Given the description of an element on the screen output the (x, y) to click on. 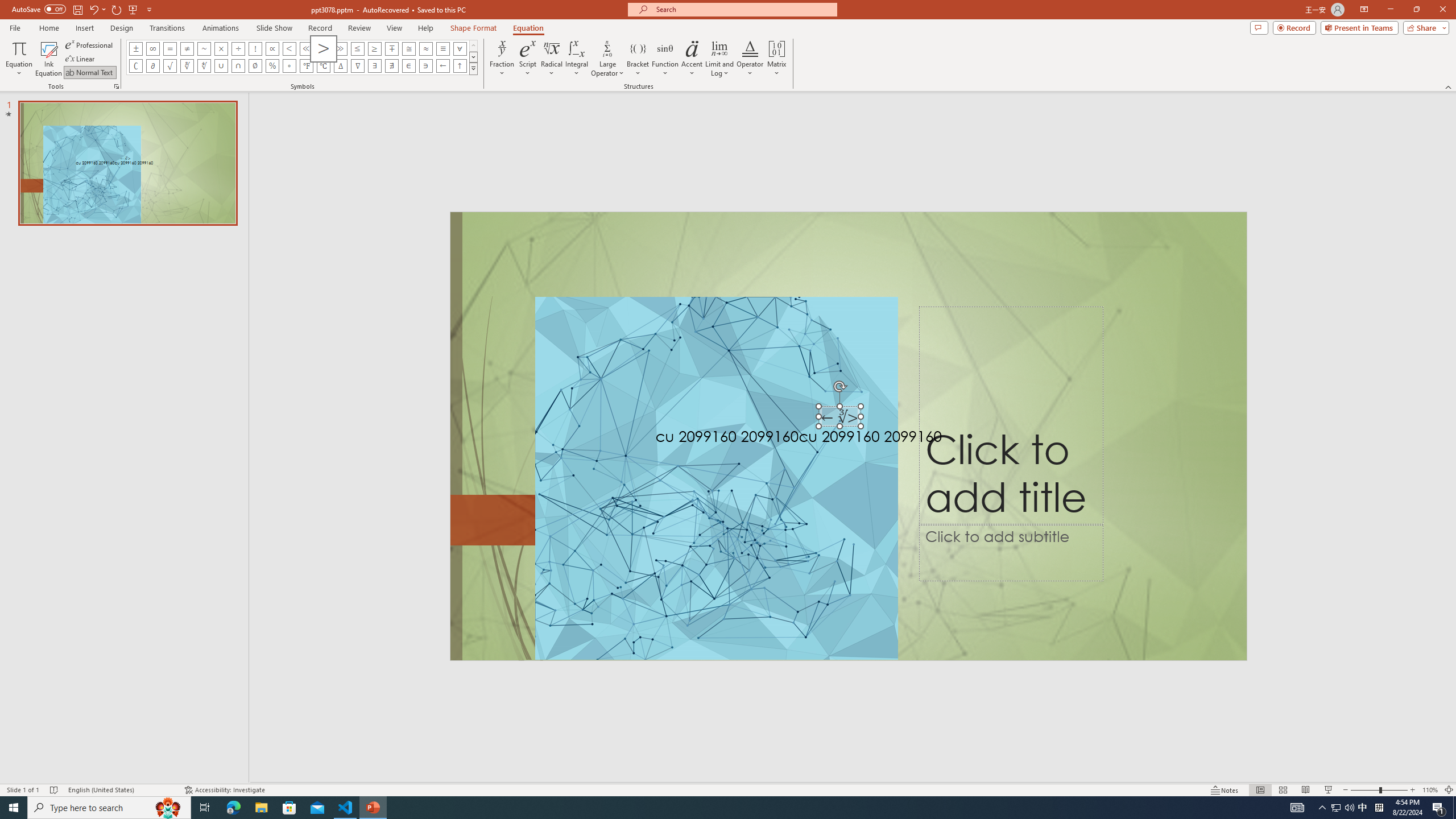
Equation Options... (116, 85)
Equation Symbol Radical Sign (170, 65)
Equation Symbol Almost Equal To (Asymptotic To) (425, 48)
Equation Symbol Complement (136, 65)
Matrix (776, 58)
Fraction (502, 58)
Equation Symbol Division Sign (238, 48)
Equation Symbol Degrees Celsius (322, 65)
Equation Symbol There Exists (374, 65)
